Given the description of an element on the screen output the (x, y) to click on. 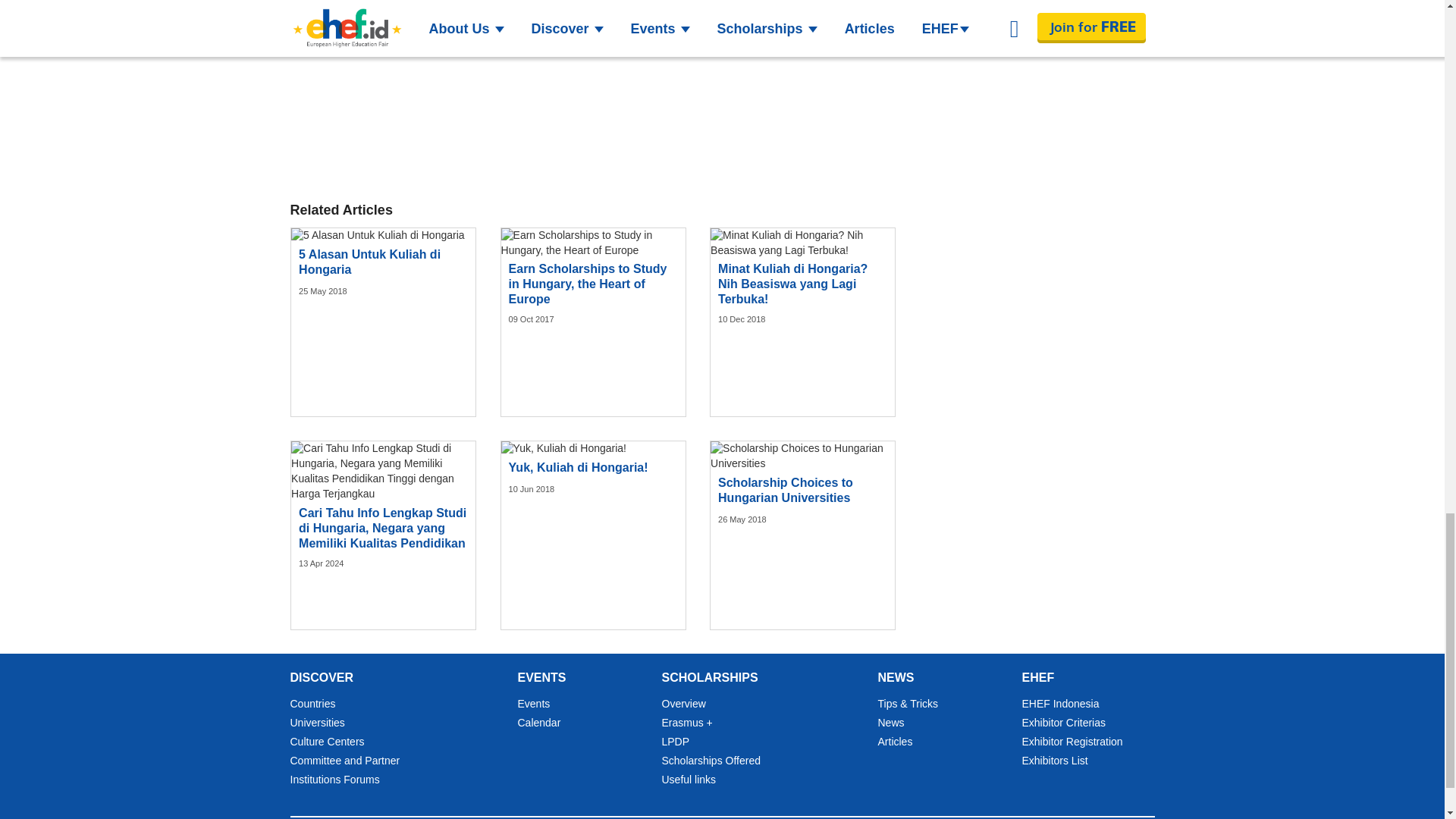
5 Alasan Untuk Kuliah di Hongaria (377, 235)
Scholarship Choices to Hungarian Universities (802, 456)
Minat Kuliah di Hongaria? Nih Beasiswa yang Lagi Terbuka! (802, 243)
Earn Scholarships to Study in Hungary, the Heart of Europe (592, 243)
Yuk, Kuliah di Hongaria! (563, 448)
